Given the description of an element on the screen output the (x, y) to click on. 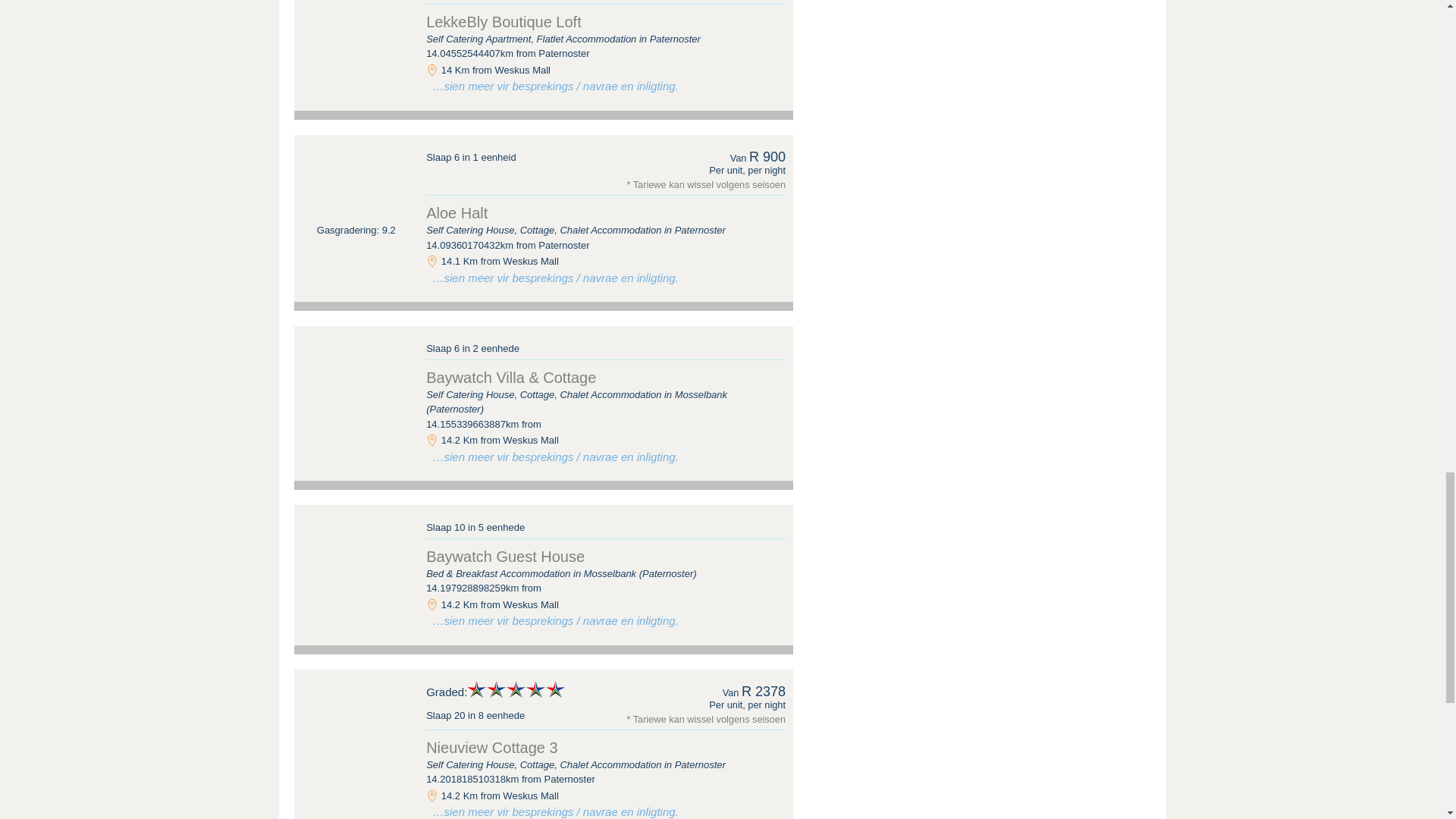
Nieuview Cottage 3 (356, 713)
Aloe Halt (356, 178)
Baywatch Guest House (356, 548)
LekkeBly Boutique Loft (356, 25)
